Given the description of an element on the screen output the (x, y) to click on. 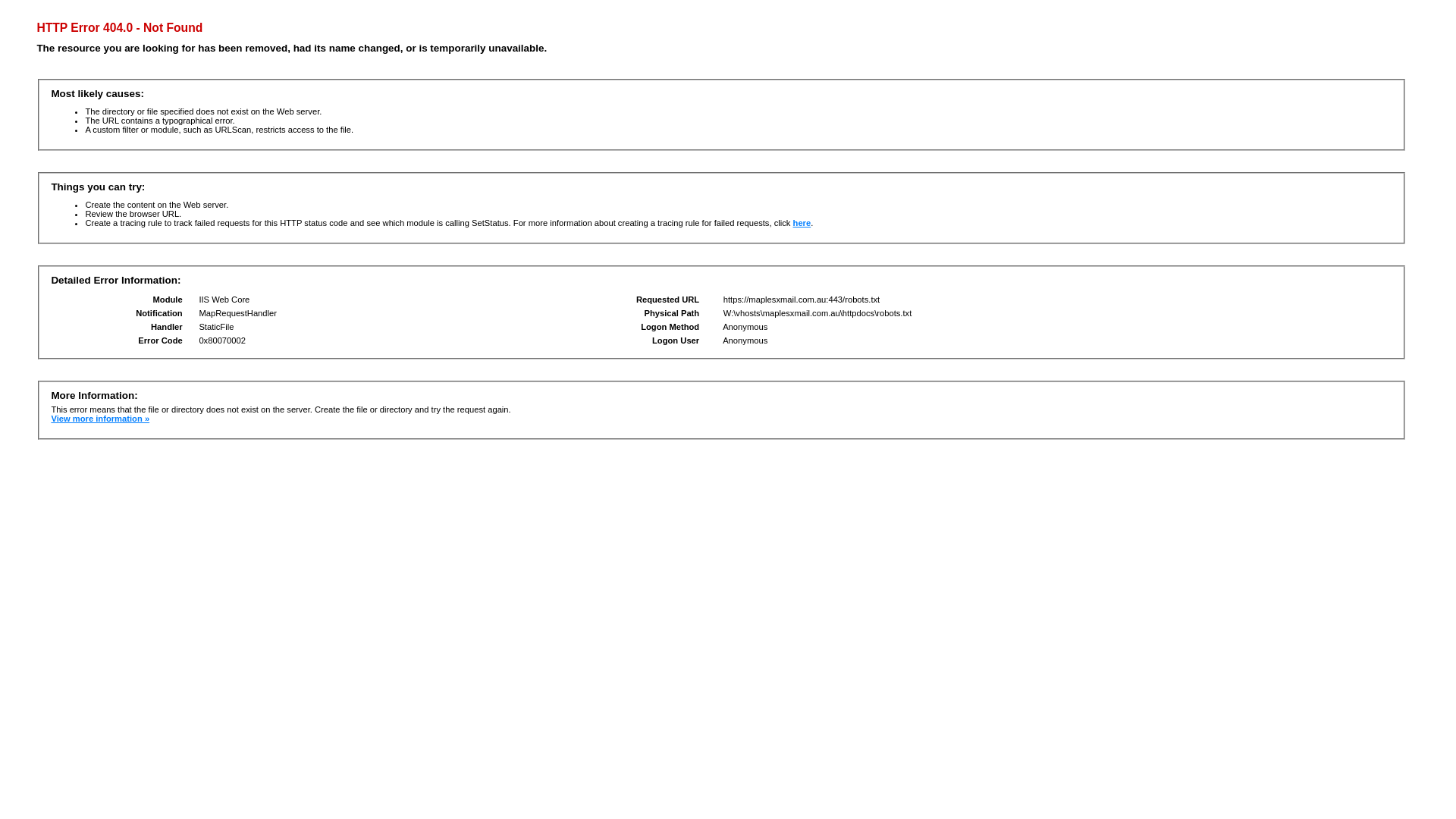
here Element type: text (802, 222)
